Given the description of an element on the screen output the (x, y) to click on. 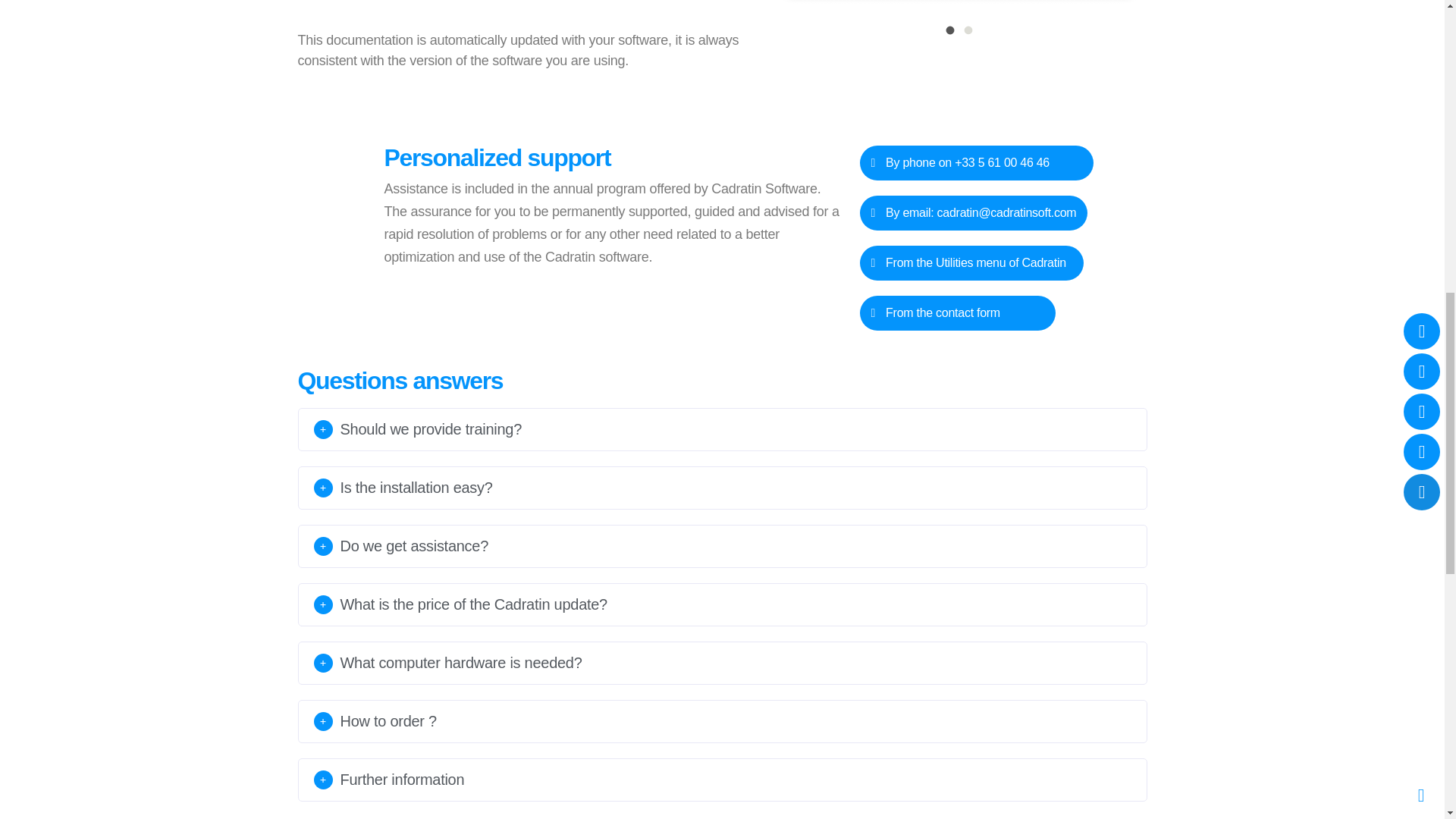
page 8 (527, 35)
page 8 (614, 222)
